Given the description of an element on the screen output the (x, y) to click on. 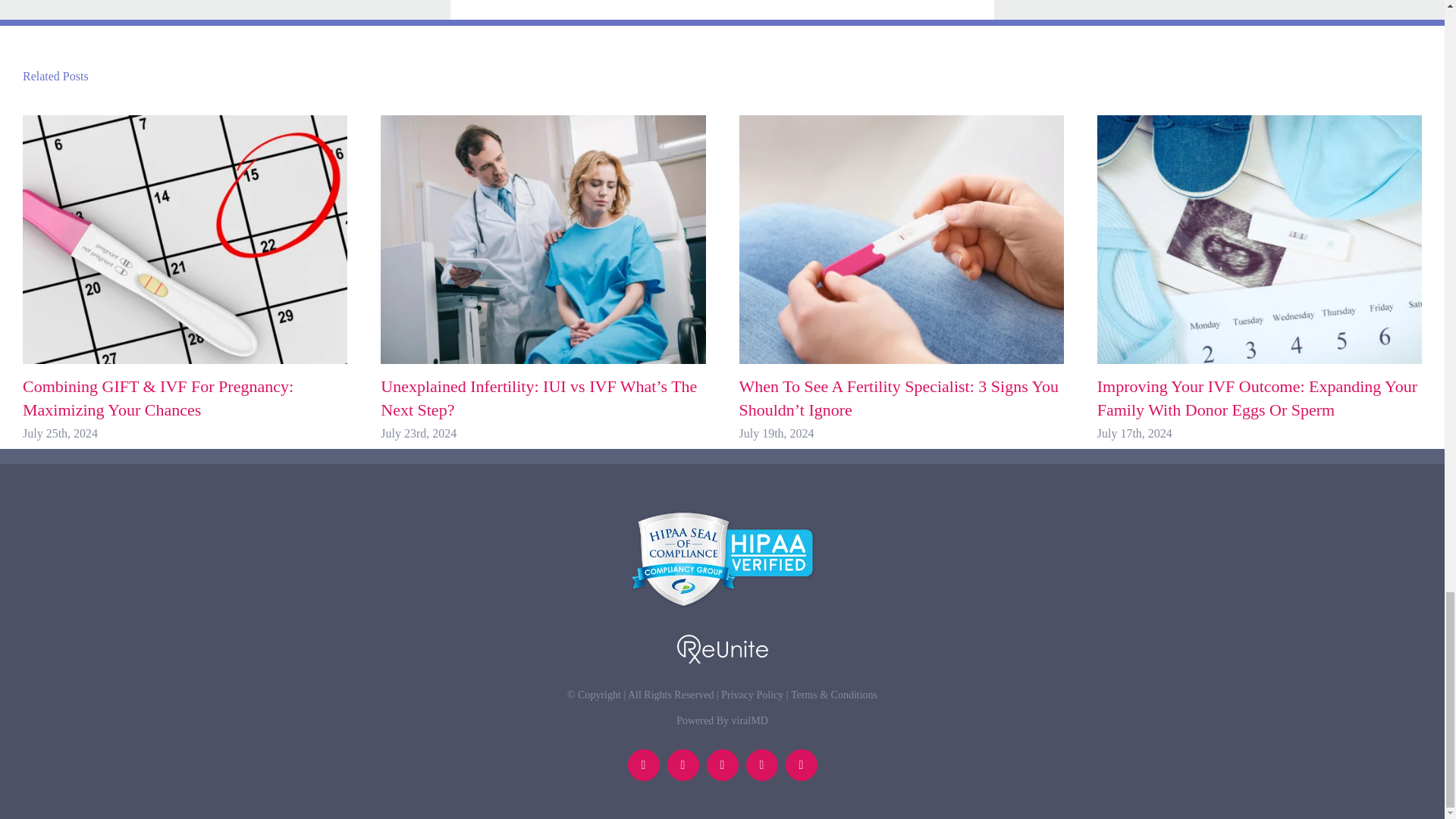
LinkedIn (643, 765)
YouTube (761, 765)
X (722, 765)
Facebook (682, 765)
Instagram (801, 765)
